Given the description of an element on the screen output the (x, y) to click on. 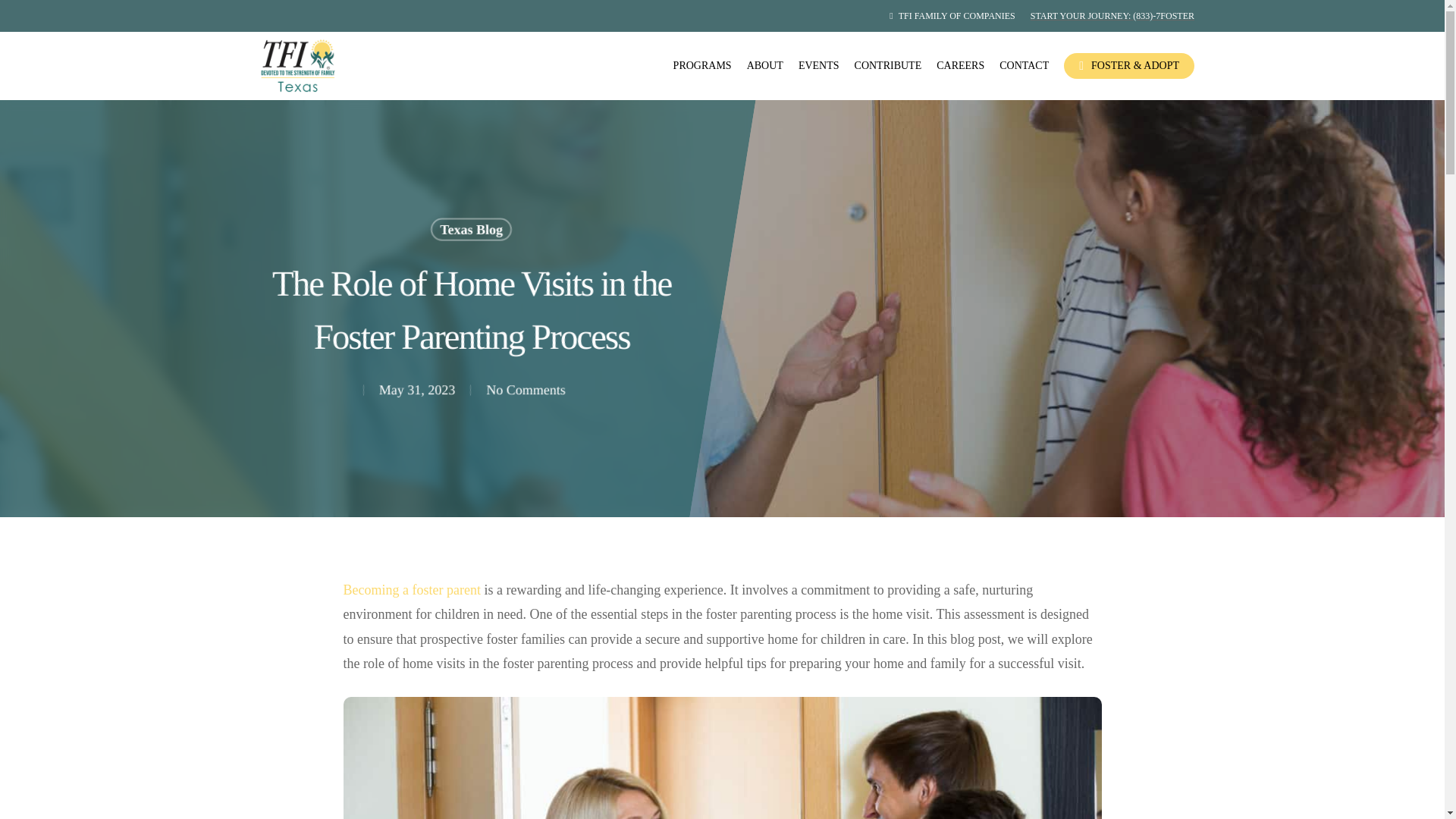
CONTRIBUTE (887, 65)
EVENTS (818, 65)
CAREERS (960, 65)
ABOUT (764, 65)
TFI FAMILY OF COMPANIES (951, 15)
The Role of Home Visits in the Foster Parenting Process (721, 757)
PROGRAMS (702, 65)
